Given the description of an element on the screen output the (x, y) to click on. 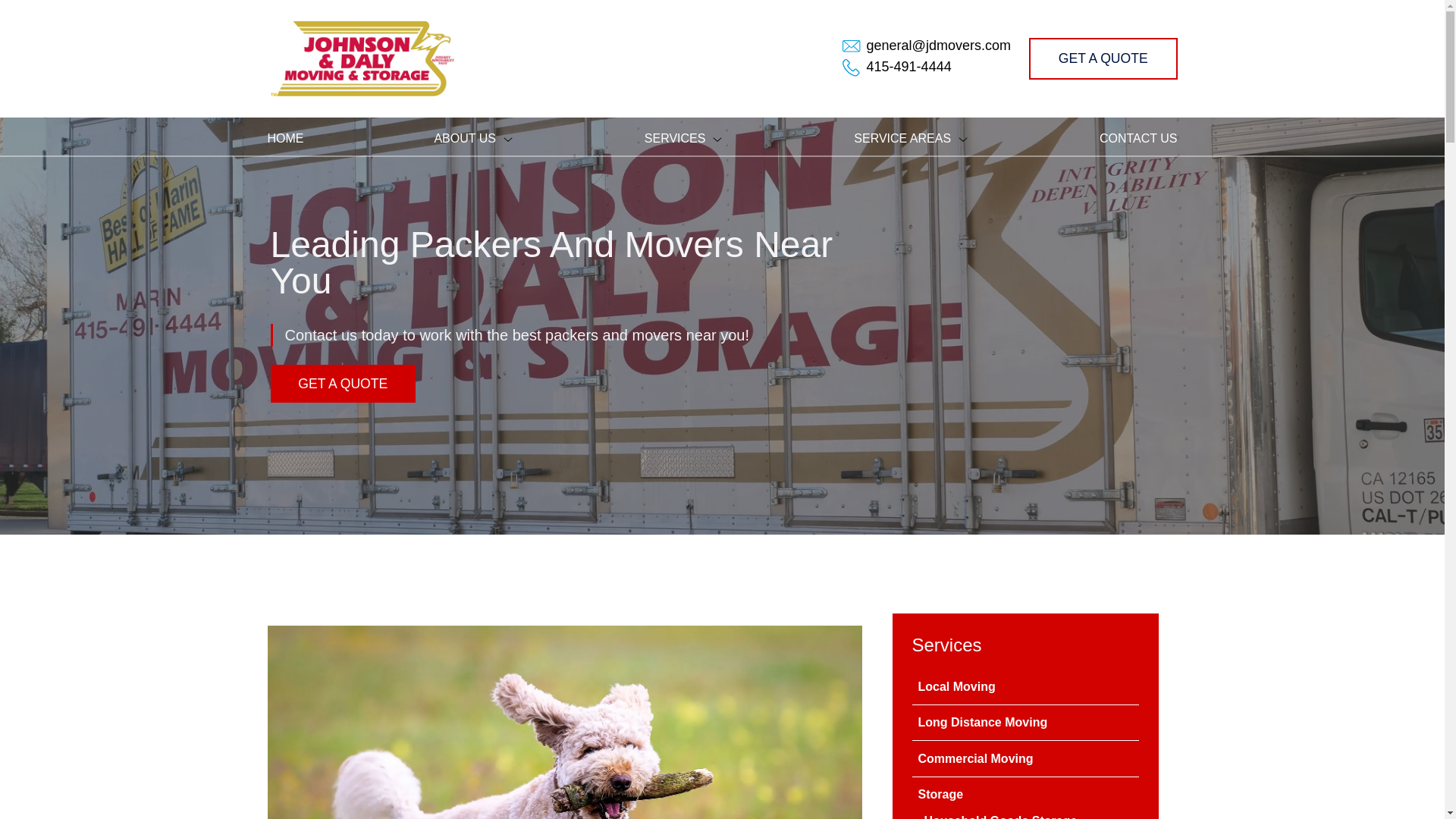
HOME (284, 137)
SERVICES (684, 137)
415-491-4444 (909, 66)
GET A QUOTE (1103, 57)
ABOUT US (473, 137)
